Given the description of an element on the screen output the (x, y) to click on. 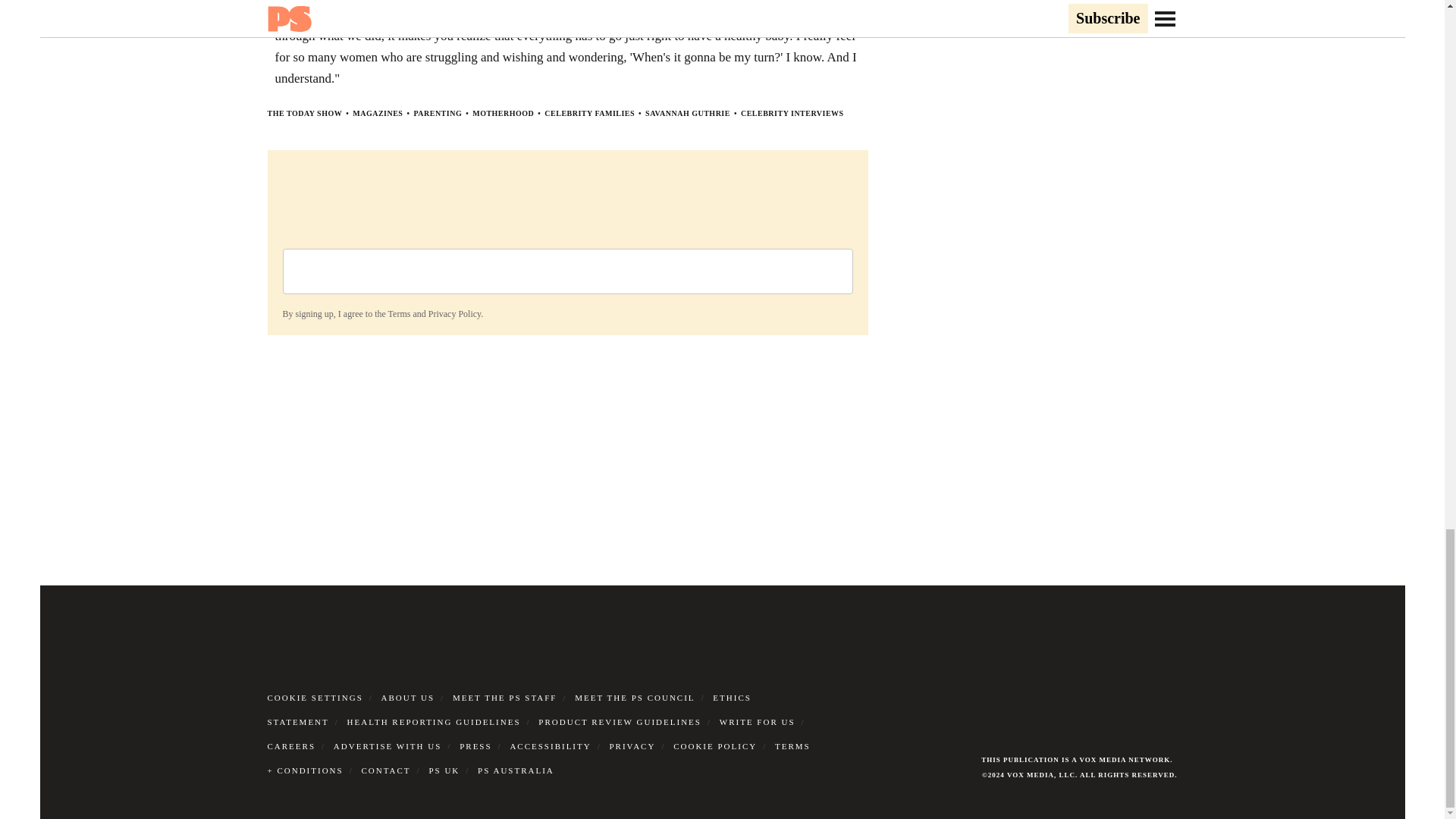
WRITE FOR US (756, 721)
MAGAZINES (377, 112)
CELEBRITY INTERVIEWS (792, 112)
CAREERS (290, 746)
THE TODAY SHOW (304, 112)
HEALTH REPORTING GUIDELINES (434, 721)
PARENTING (437, 112)
Terms (399, 313)
SAVANNAH GUTHRIE (687, 112)
MEET THE PS COUNCIL (634, 697)
